Given the description of an element on the screen output the (x, y) to click on. 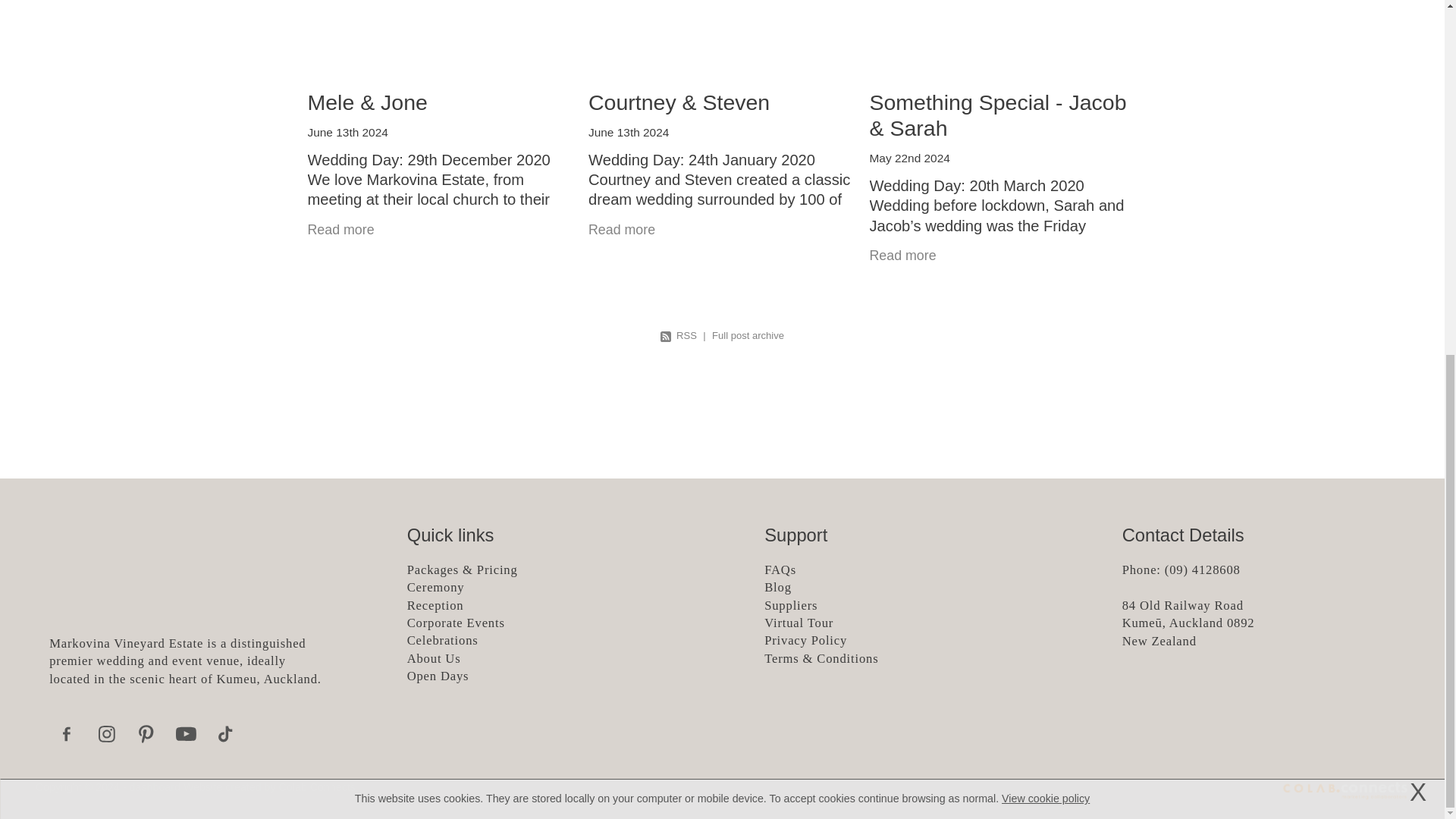
A link to this website's Instagram. (105, 733)
A link to this website's Youtube. (185, 733)
RSS (679, 335)
A link to this website's Pinterest. (146, 733)
RSS Feed (679, 335)
A link to this website's Facebook. (66, 733)
A link to this website's TikTok. (225, 733)
Full post archive (747, 335)
